Given the description of an element on the screen output the (x, y) to click on. 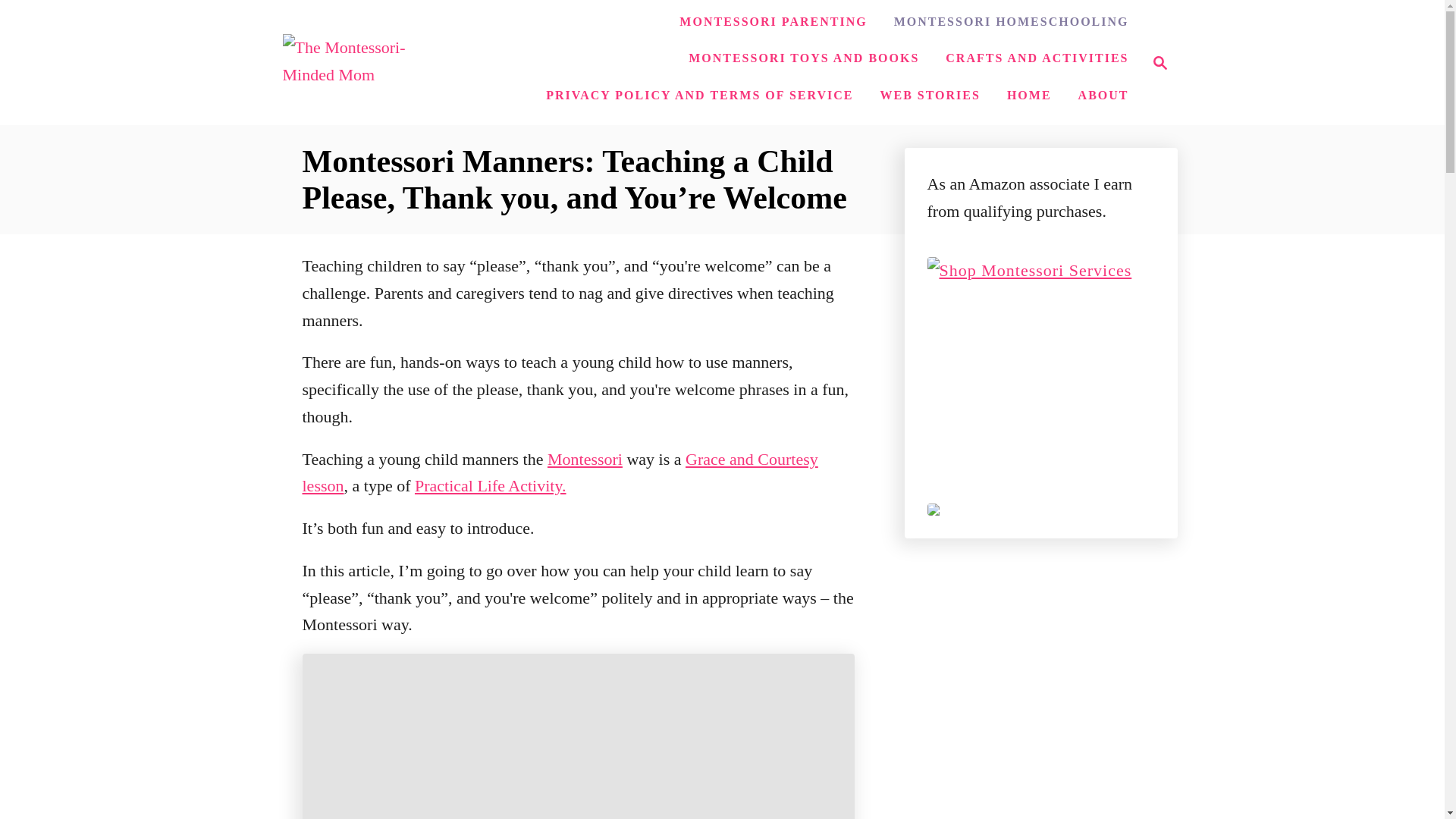
ABOUT (1155, 62)
CRAFTS AND ACTIVITIES (1103, 95)
MONTESSORI HOMESCHOOLING (1036, 58)
Magnifying Glass (1011, 21)
Montessori (1160, 63)
HOME (585, 458)
MONTESSORI TOYS AND BOOKS (1028, 95)
PRIVACY POLICY AND TERMS OF SERVICE (803, 58)
MONTESSORI PARENTING (699, 95)
